Given the description of an element on the screen output the (x, y) to click on. 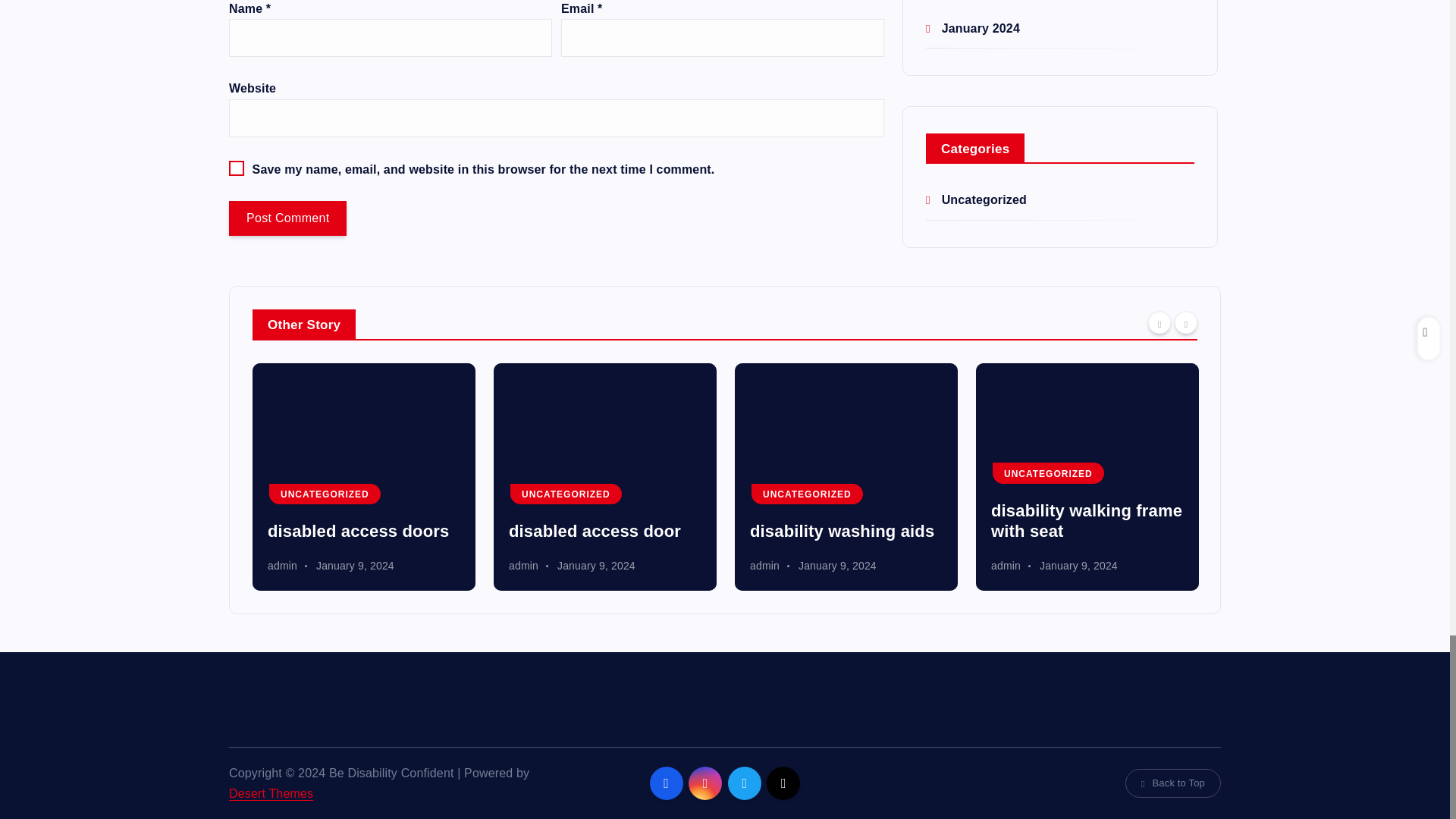
Post Comment (287, 217)
Post Comment (287, 217)
yes (236, 168)
